Given the description of an element on the screen output the (x, y) to click on. 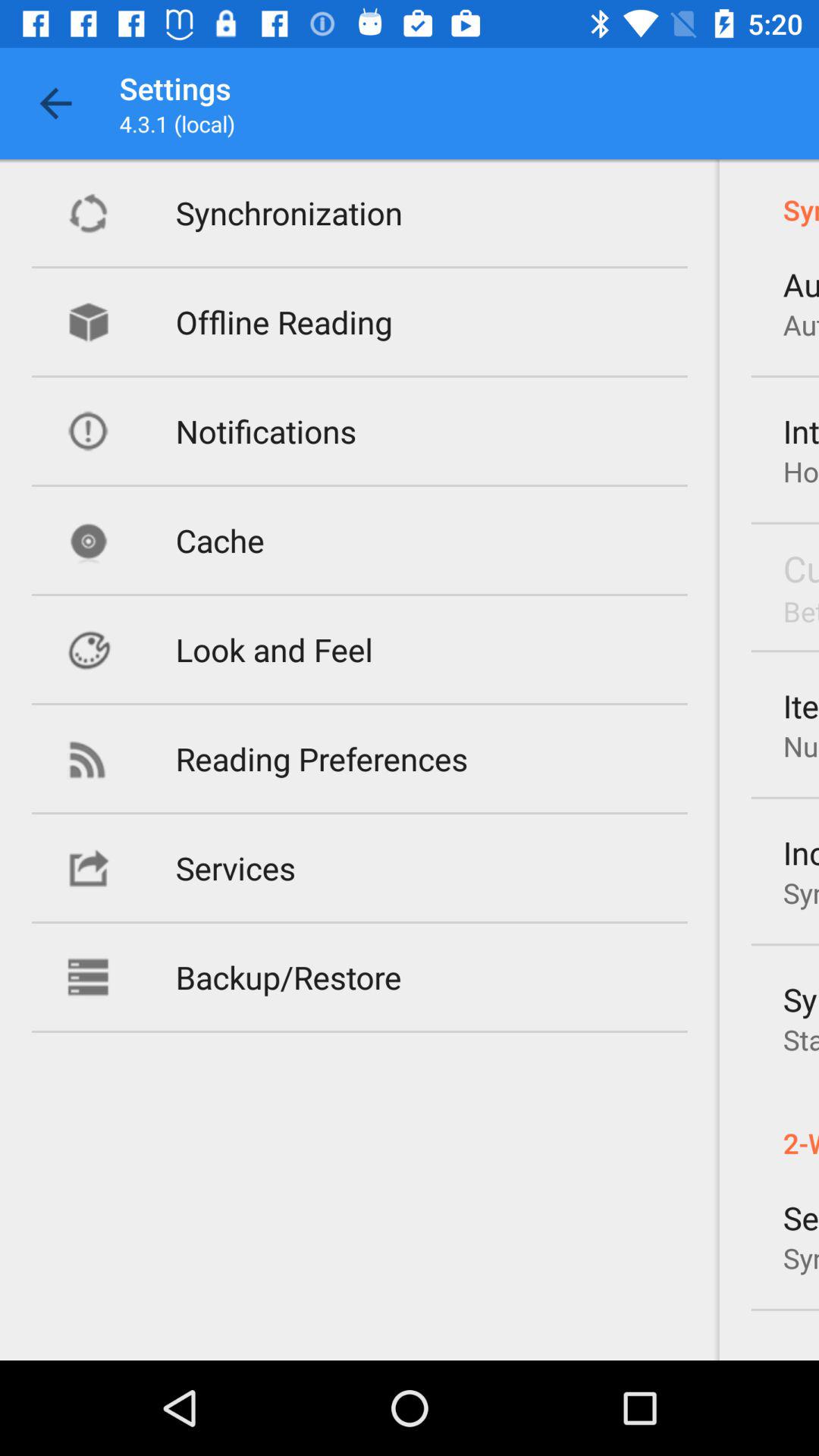
tap item to the left of settings app (55, 103)
